Given the description of an element on the screen output the (x, y) to click on. 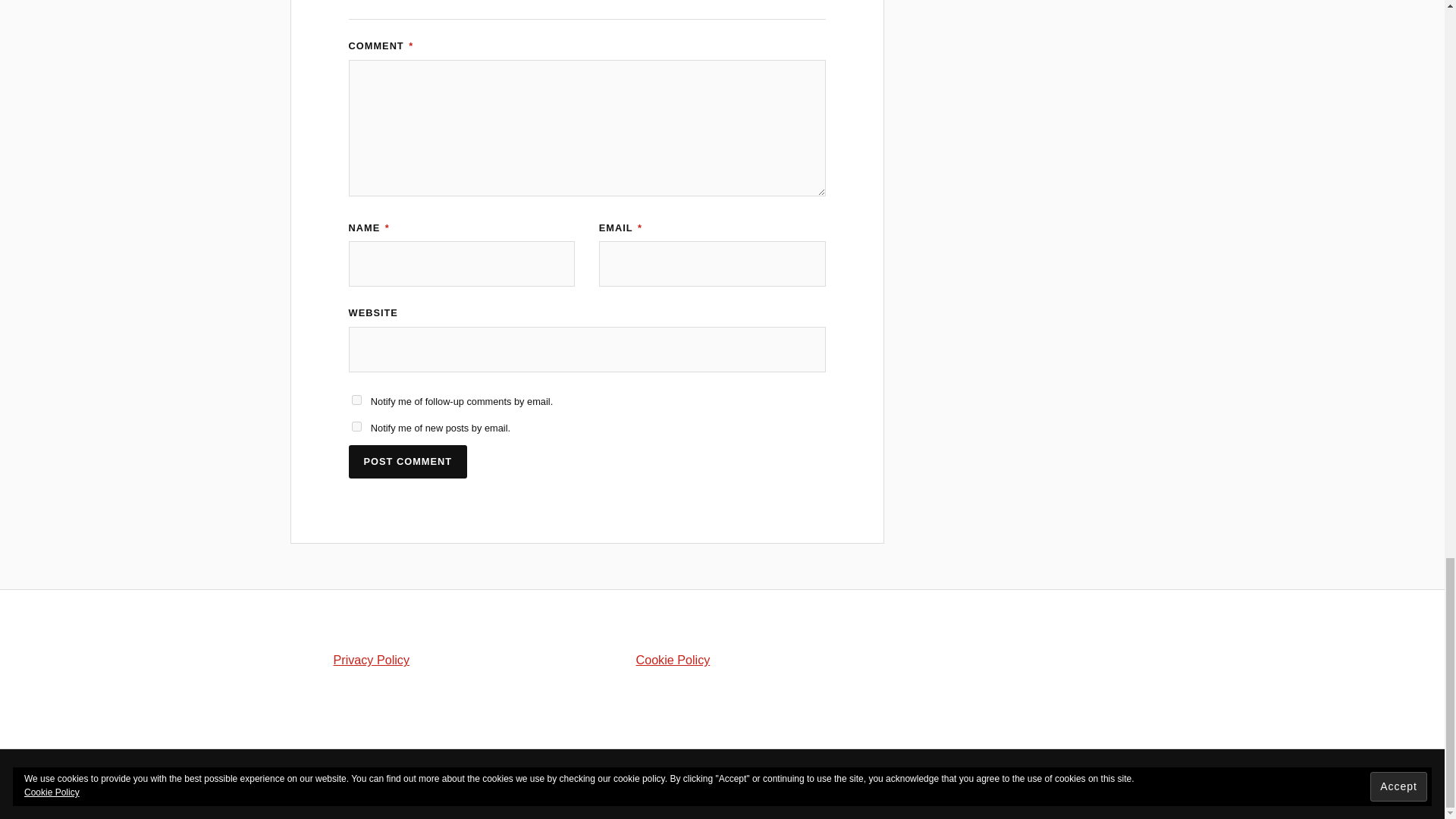
subscribe (356, 426)
subscribe (356, 399)
Post Comment (408, 462)
Post Comment (408, 462)
